Given the description of an element on the screen output the (x, y) to click on. 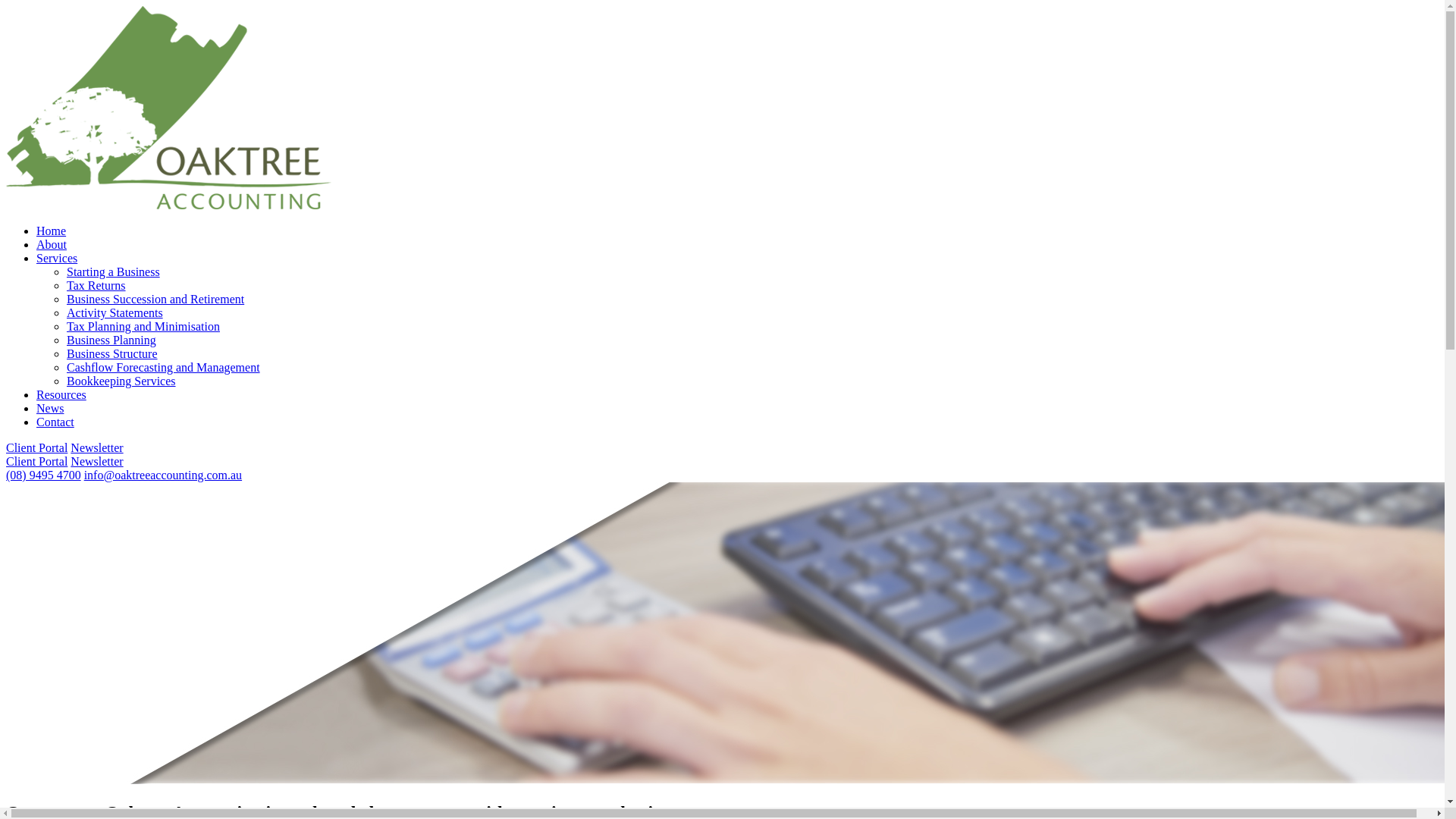
(08) 9495 4700 Element type: text (43, 474)
Client Portal Element type: text (36, 461)
info@oaktreeaccounting.com.au Element type: text (162, 474)
Business Succession and Retirement Element type: text (155, 298)
Home Element type: text (50, 230)
Bookkeeping Services Element type: text (120, 380)
Contact Element type: text (55, 421)
Newsletter Element type: text (96, 461)
Services Element type: text (56, 257)
Client Portal Element type: text (36, 447)
Newsletter Element type: text (96, 447)
Tax Planning and Minimisation Element type: text (142, 326)
Starting a Business Element type: text (113, 271)
Resources Element type: text (61, 394)
Business Planning Element type: text (111, 339)
News Element type: text (49, 407)
About Element type: text (51, 244)
Cashflow Forecasting and Management Element type: text (163, 366)
Activity Statements Element type: text (114, 312)
Tax Returns Element type: text (95, 285)
Business Structure Element type: text (111, 353)
